Given the description of an element on the screen output the (x, y) to click on. 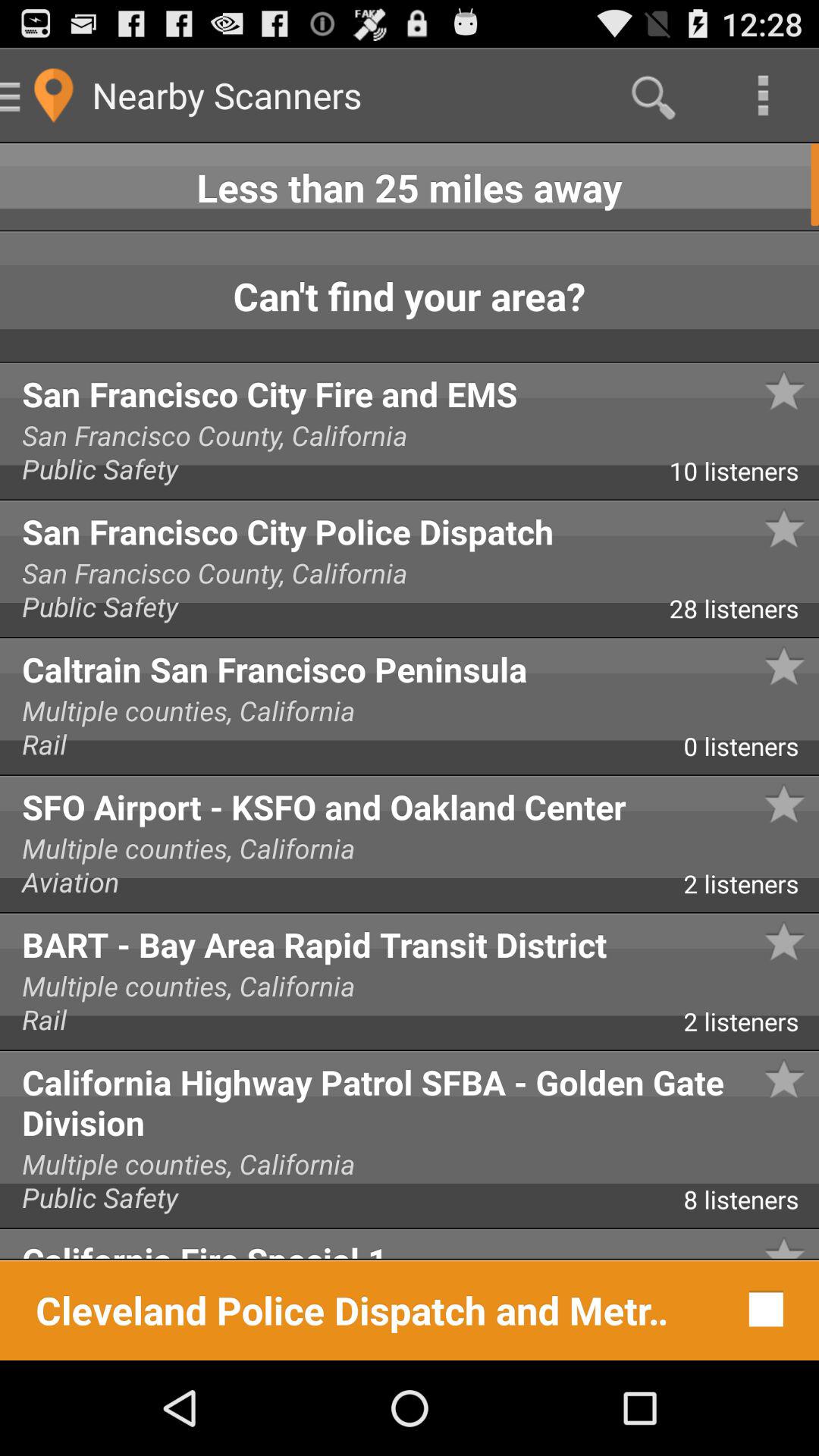
press item above the san francisco city app (409, 296)
